Given the description of an element on the screen output the (x, y) to click on. 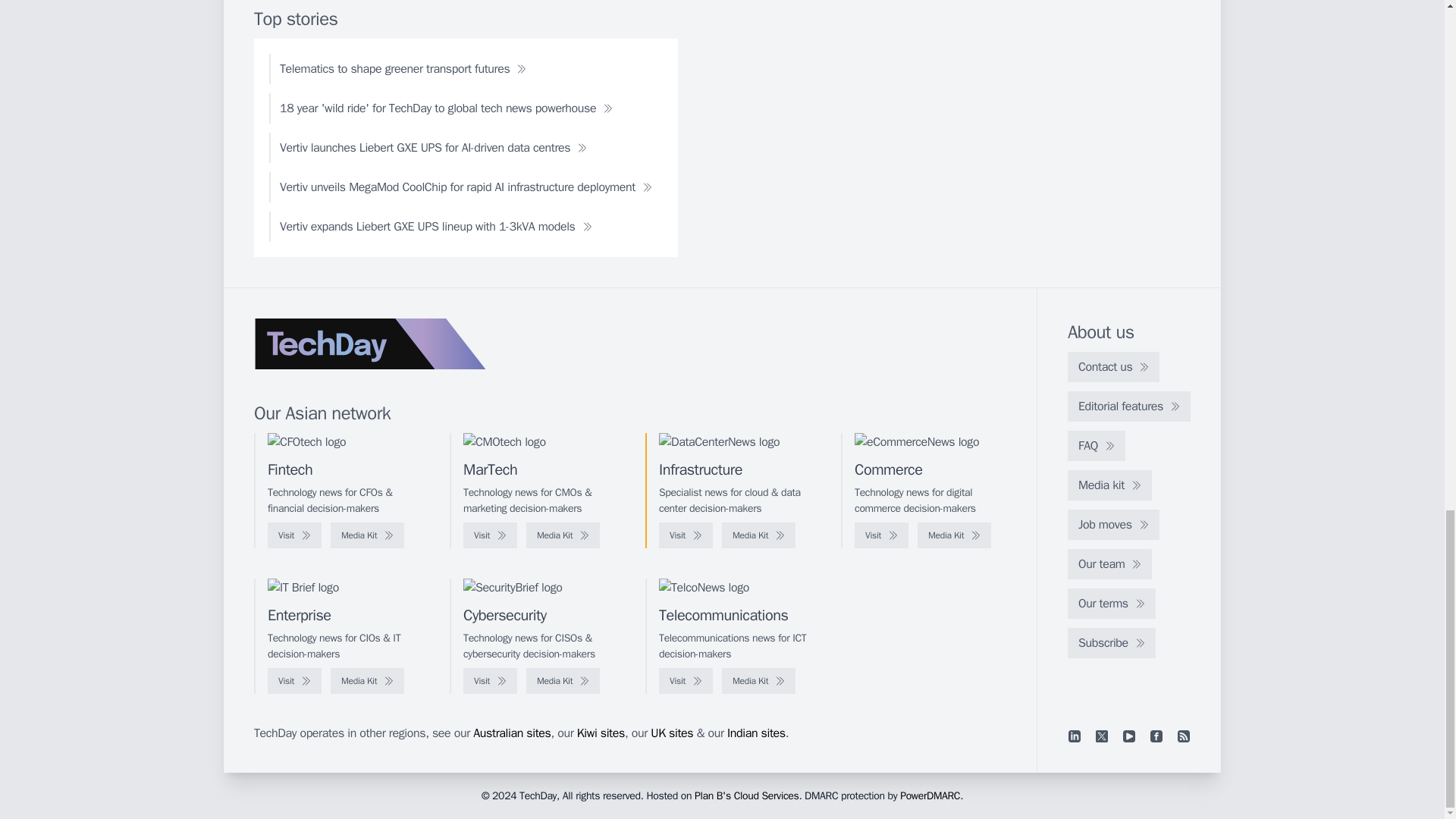
Telematics to shape greener transport futures (403, 69)
Media Kit (758, 534)
Vertiv expands Liebert GXE UPS lineup with 1-3kVA models (435, 226)
Visit (686, 534)
Vertiv launches Liebert GXE UPS for AI-driven data centres (432, 147)
Media Kit (562, 534)
Media Kit (367, 534)
Visit (489, 534)
